Given the description of an element on the screen output the (x, y) to click on. 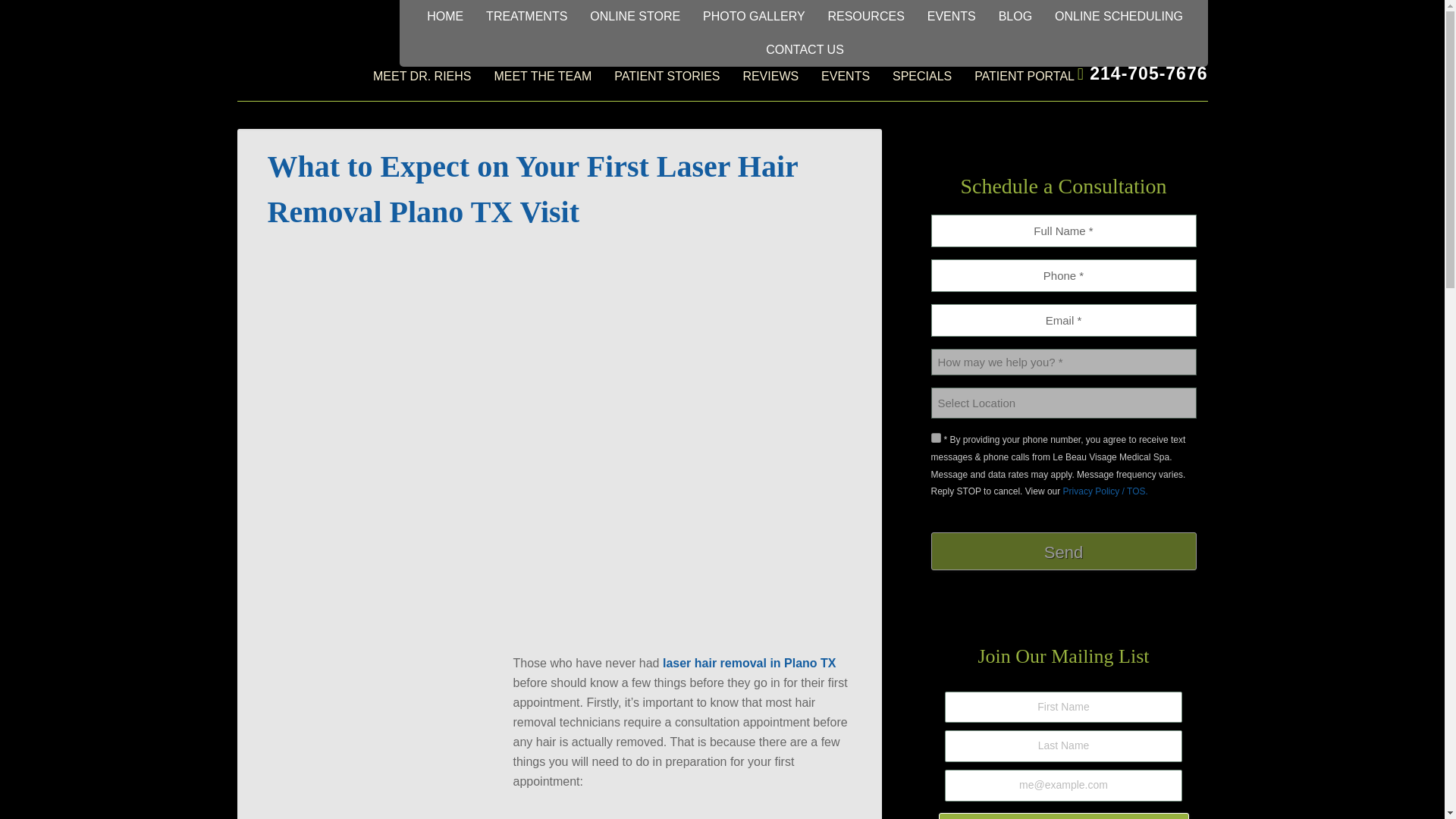
Send (1063, 551)
Privacy Policy (1105, 491)
HOME (444, 16)
TREATMENTS (526, 16)
Subscribe Now (1064, 816)
Laser hair removal Plano TX (380, 732)
1 (935, 438)
